Given the description of an element on the screen output the (x, y) to click on. 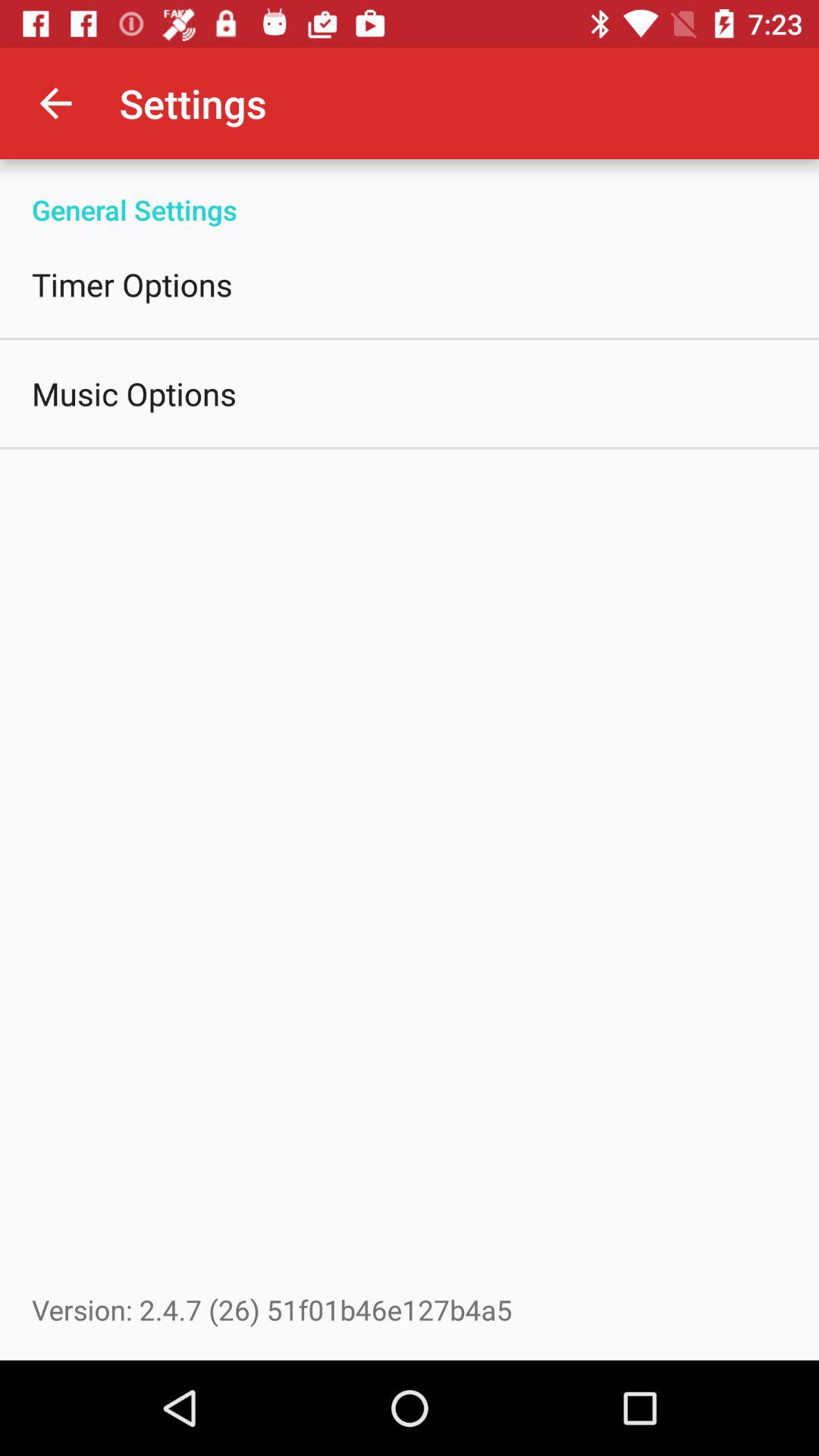
turn off item to the left of settings item (55, 103)
